Given the description of an element on the screen output the (x, y) to click on. 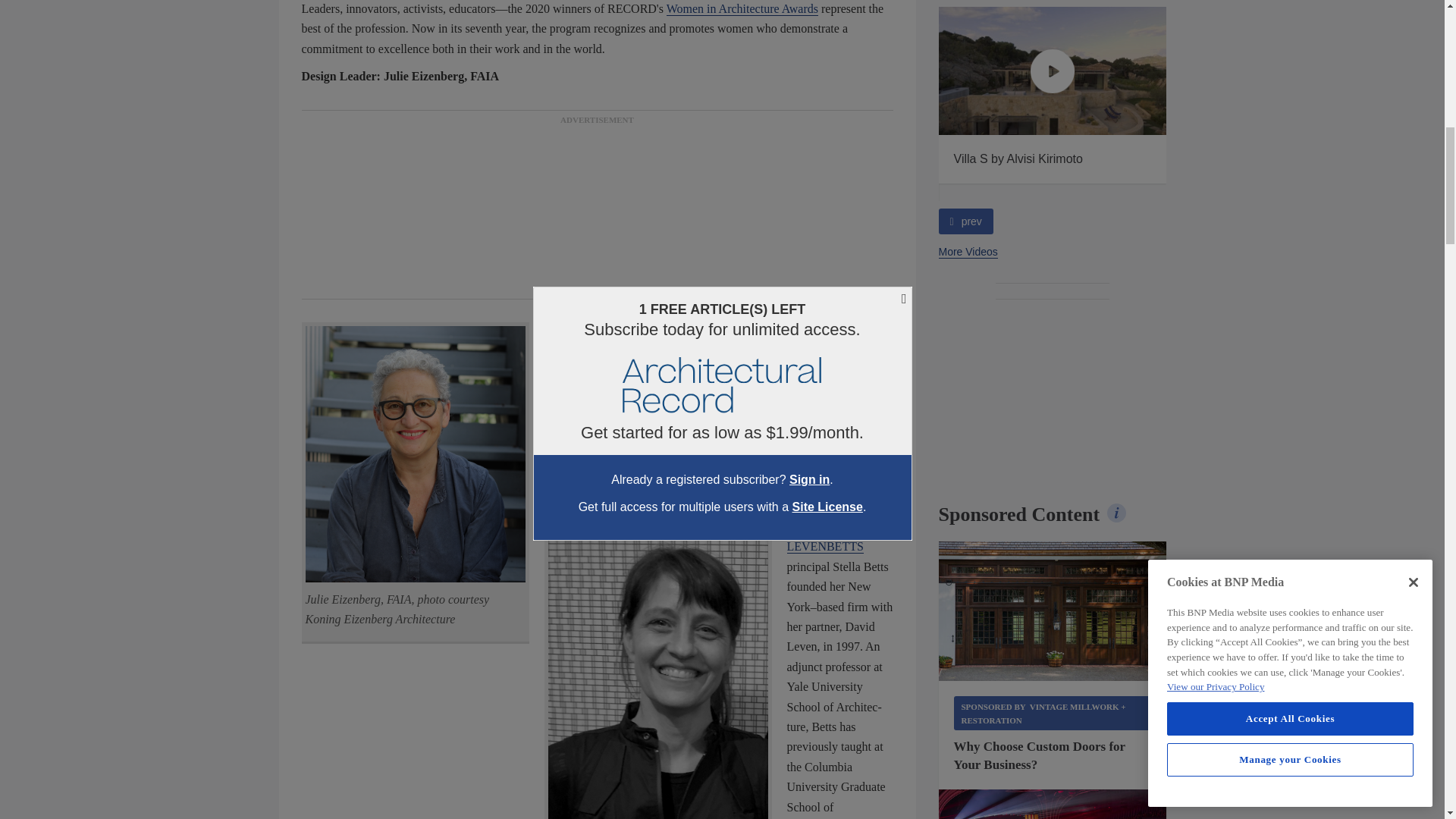
Villa S by Alvisi Kirimoto (1052, 70)
iF Design Awards (1052, 804)
Vintage Millwork Doors (1052, 610)
